Given the description of an element on the screen output the (x, y) to click on. 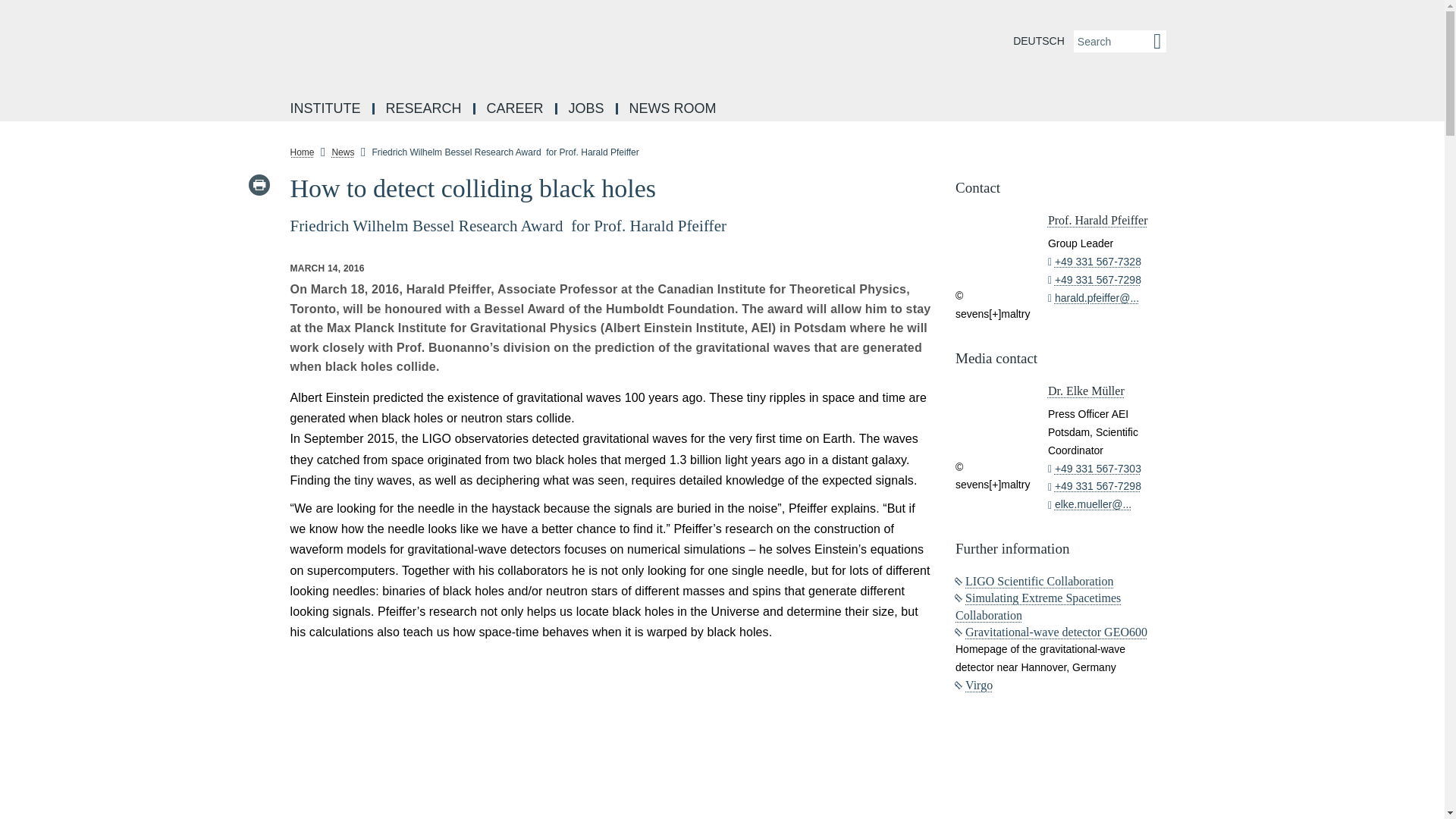
INSTITUTE (326, 108)
LIGO Scientific Collaboration (1034, 581)
More information about Prof. Harald Pfeiffer (1098, 219)
Print (258, 184)
RESEARCH (425, 108)
DEUTSCH (1038, 41)
opens zoom view (611, 734)
Gravitational-wave detector GEO600 (1051, 631)
Virgo (973, 684)
